Given the description of an element on the screen output the (x, y) to click on. 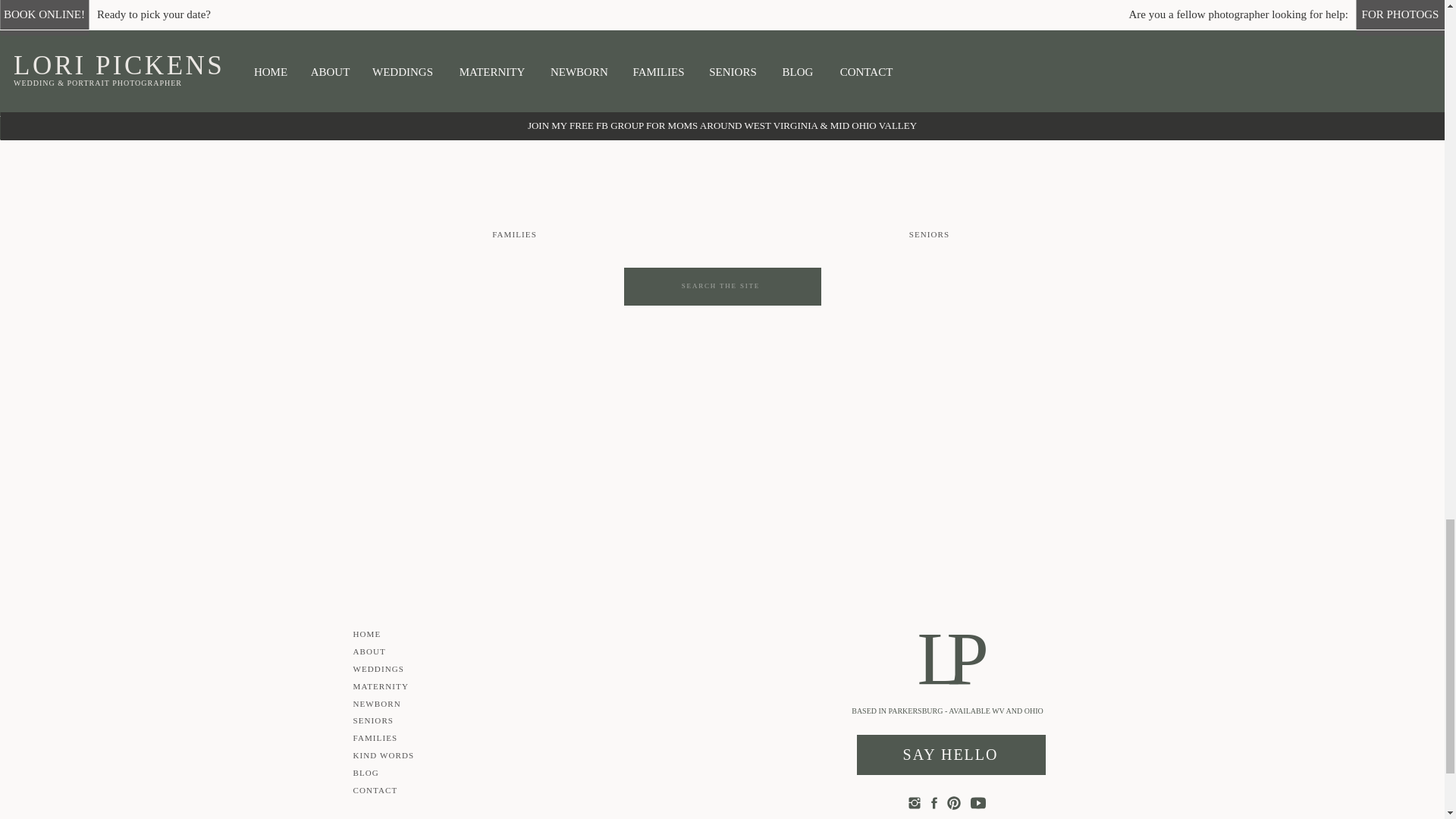
SENIORS (928, 235)
